Given the description of an element on the screen output the (x, y) to click on. 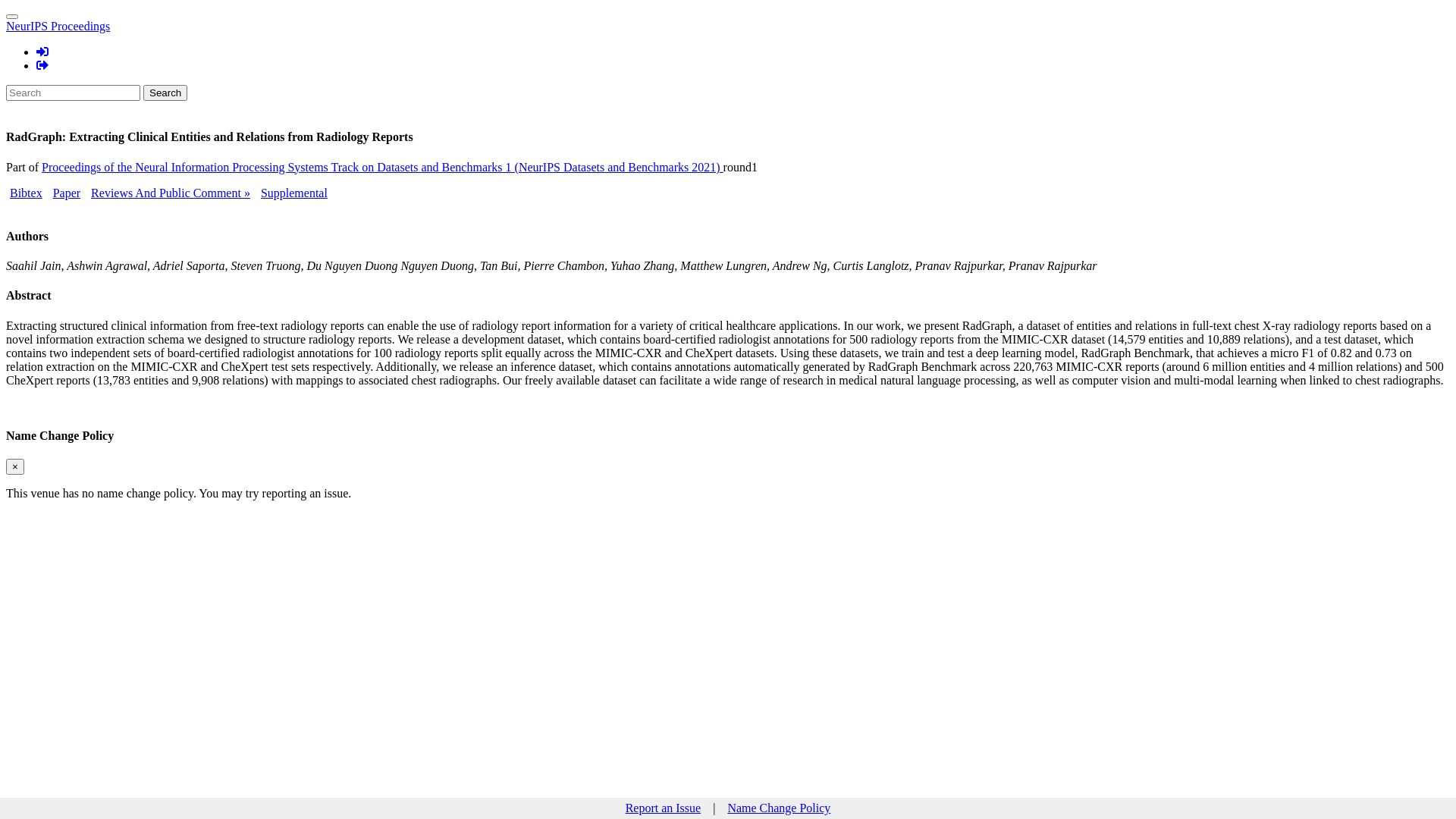
Report an Issue Element type: text (663, 807)
NeurIPS Proceedings Element type: text (57, 25)
Name Change Policy Element type: text (778, 807)
Search Element type: text (165, 92)
Logout Element type: hover (42, 65)
Bibtex Element type: text (25, 192)
Supplemental Element type: text (293, 192)
Paper Element type: text (66, 192)
Login Element type: hover (42, 51)
